Given the description of an element on the screen output the (x, y) to click on. 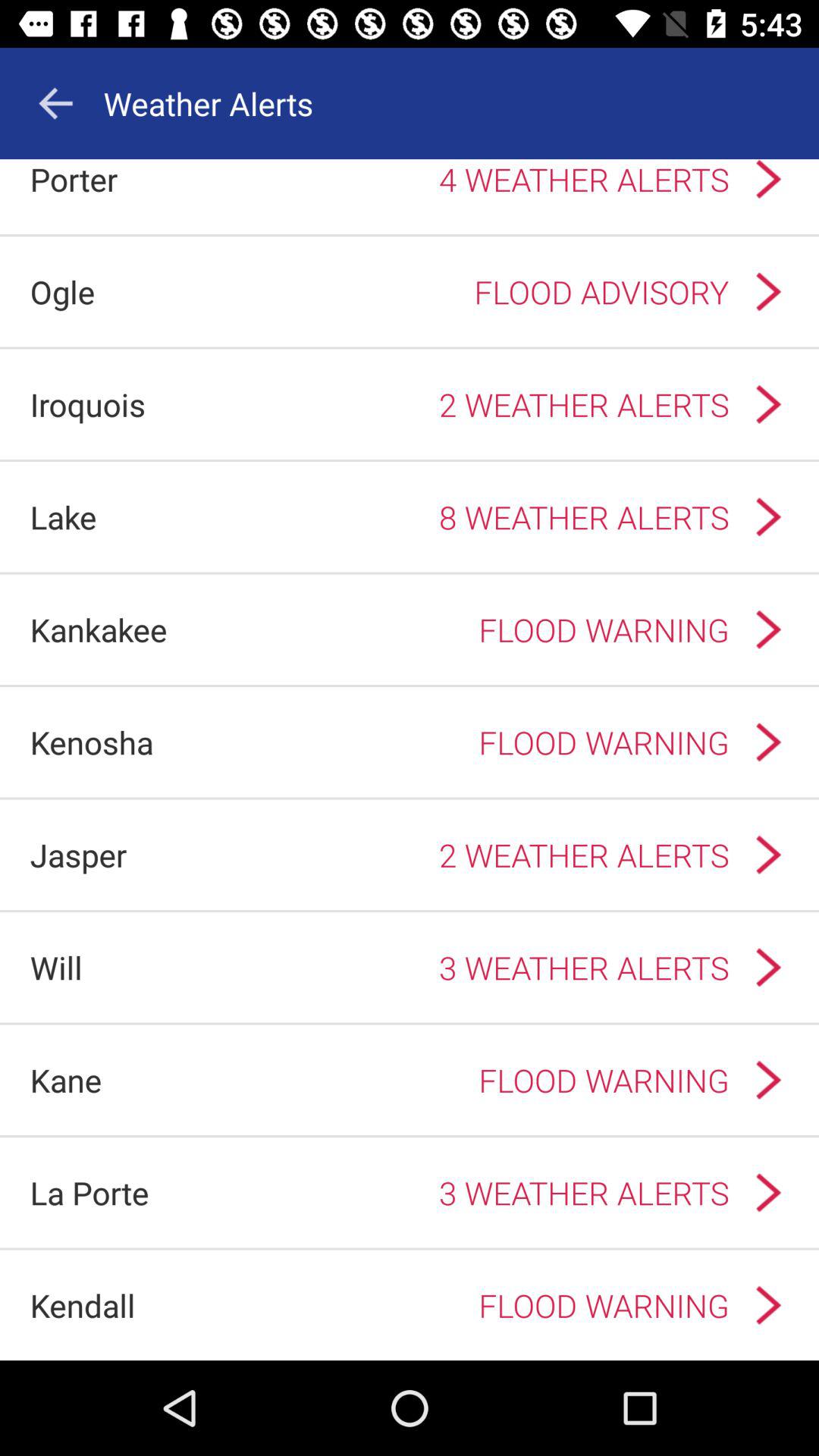
choose the app below the ogle item (87, 403)
